Given the description of an element on the screen output the (x, y) to click on. 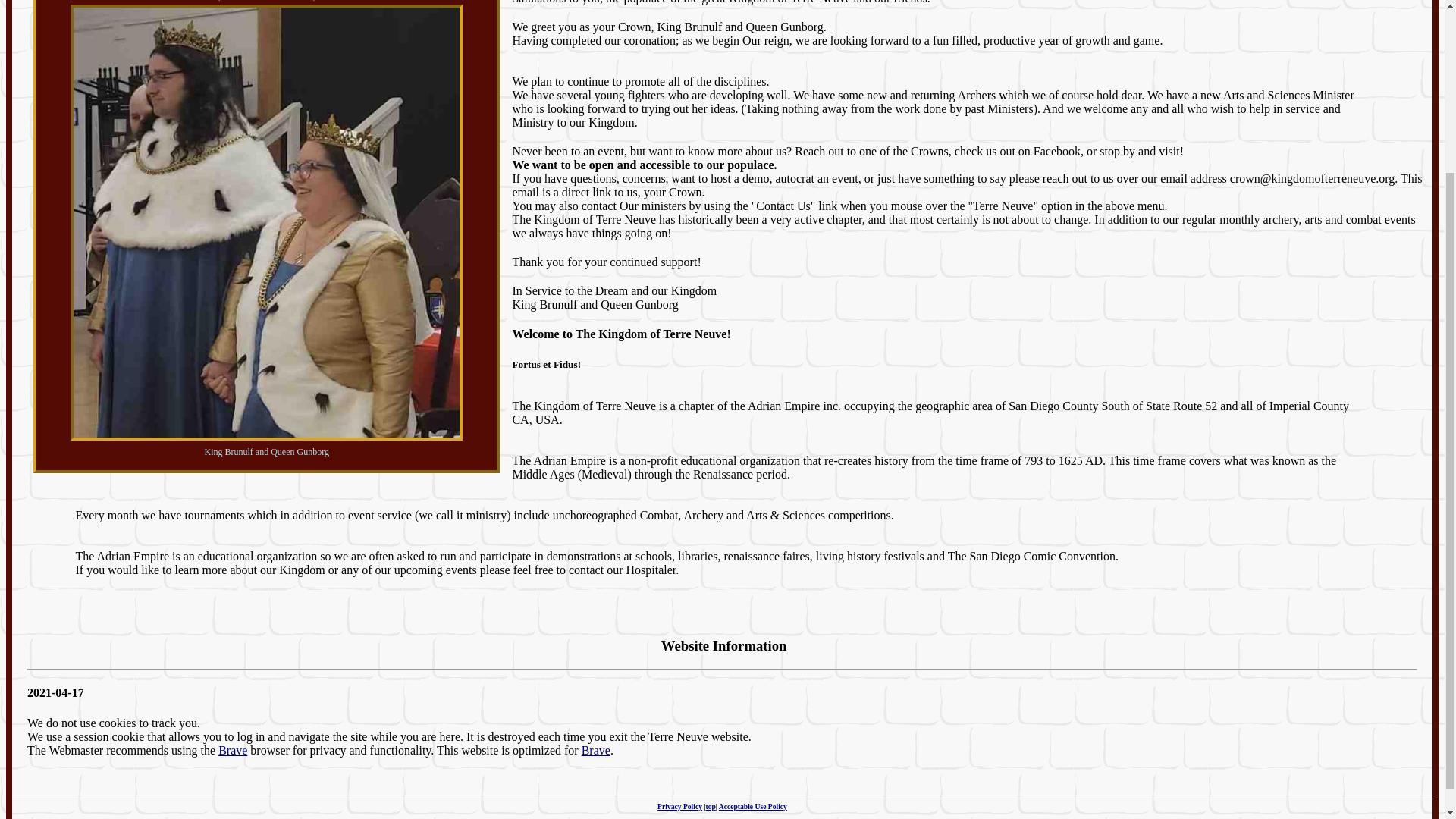
top (709, 806)
Brave (595, 749)
Brave (232, 749)
Acceptable Use Policy (753, 806)
Privacy Policy (679, 806)
The Crown of Terre Neuve (195, 1)
The Crown of Terre Neuve (338, 1)
